Given the description of an element on the screen output the (x, y) to click on. 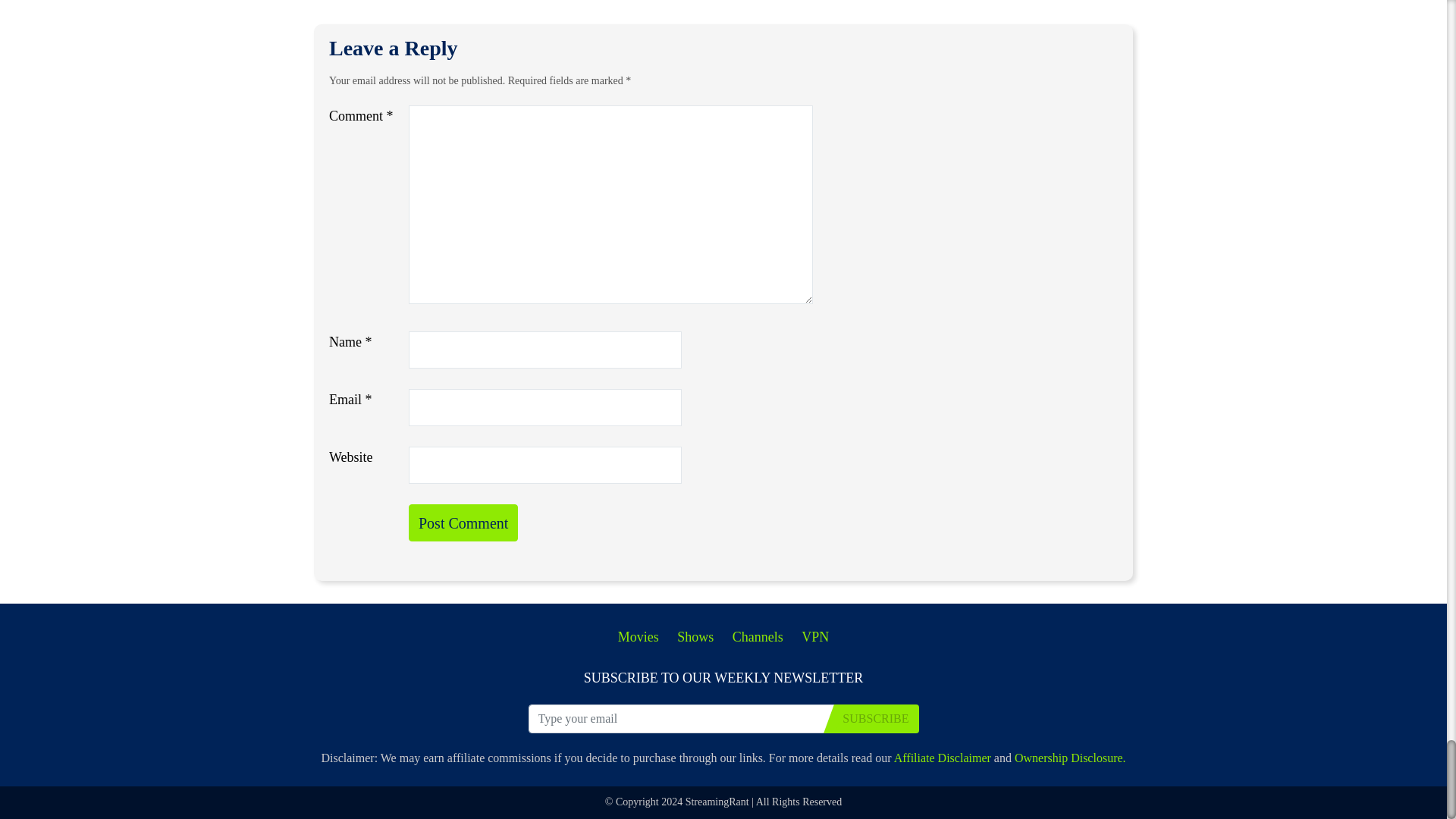
Post Comment (463, 522)
